Given the description of an element on the screen output the (x, y) to click on. 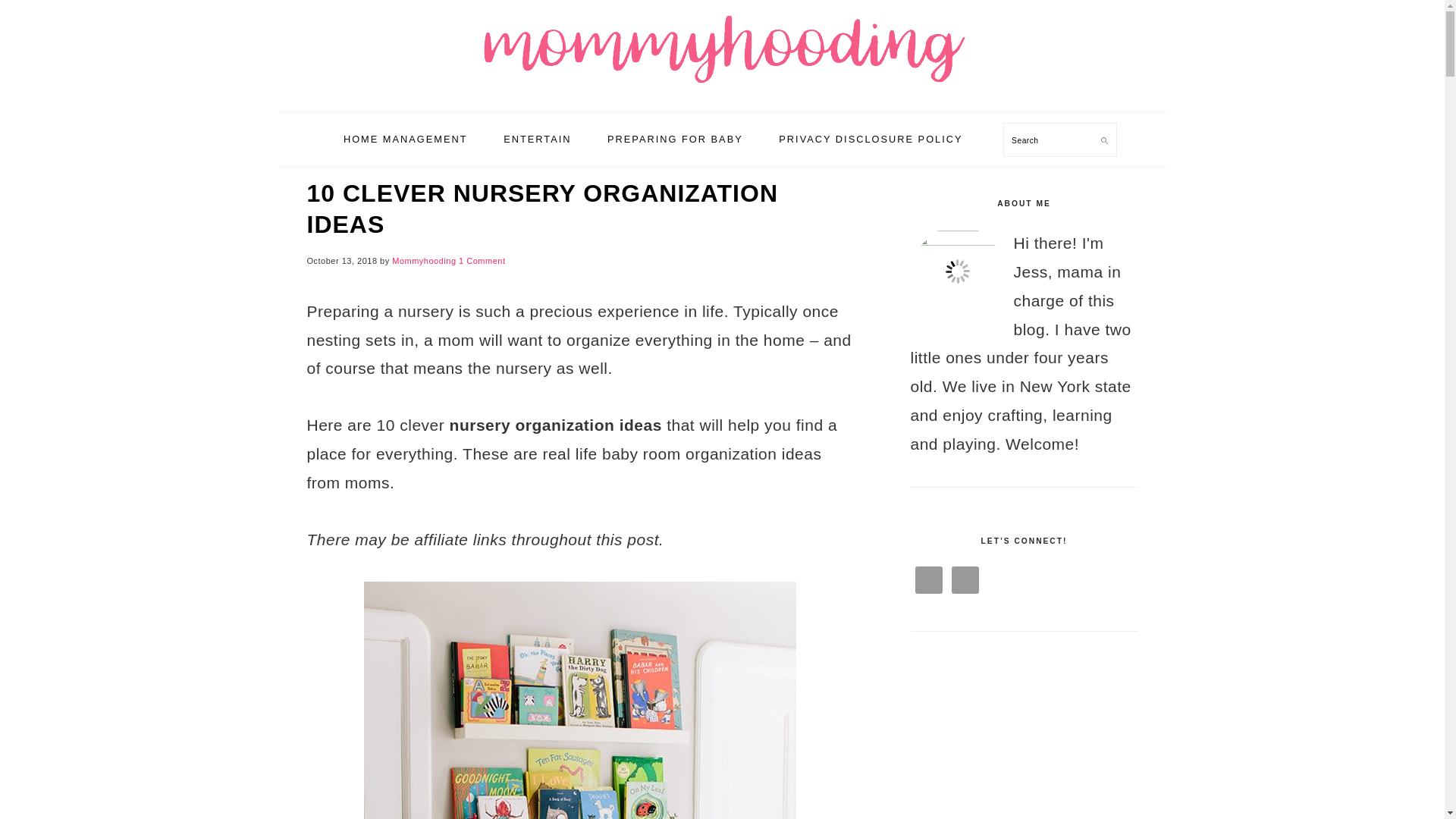
PRIVACY DISCLOSURE POLICY (870, 138)
PREPARING FOR BABY (674, 138)
Mommyhooding (722, 45)
ENTERTAIN (536, 138)
Mommyhooding (423, 260)
1 Comment (481, 260)
HOME MANAGEMENT (405, 138)
